Given the description of an element on the screen output the (x, y) to click on. 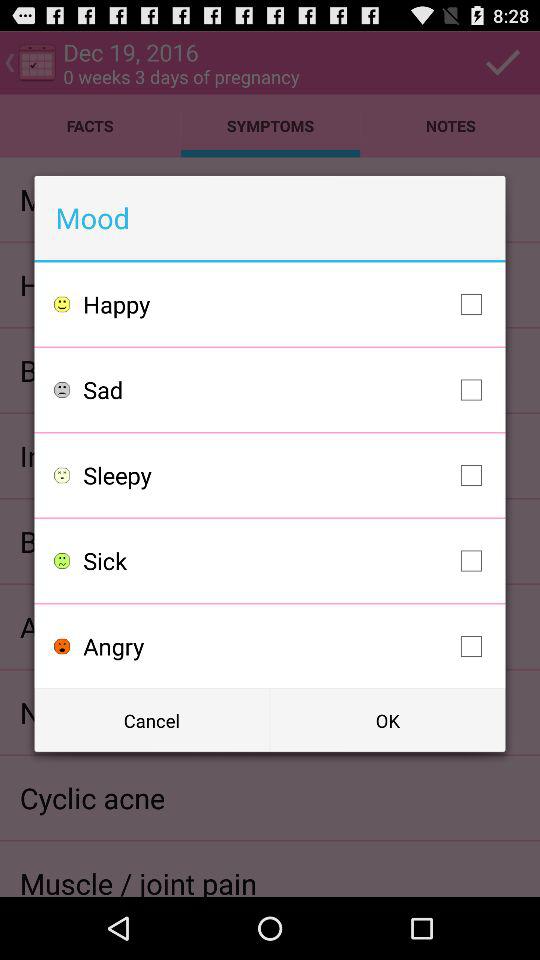
swipe to sad (287, 389)
